Given the description of an element on the screen output the (x, y) to click on. 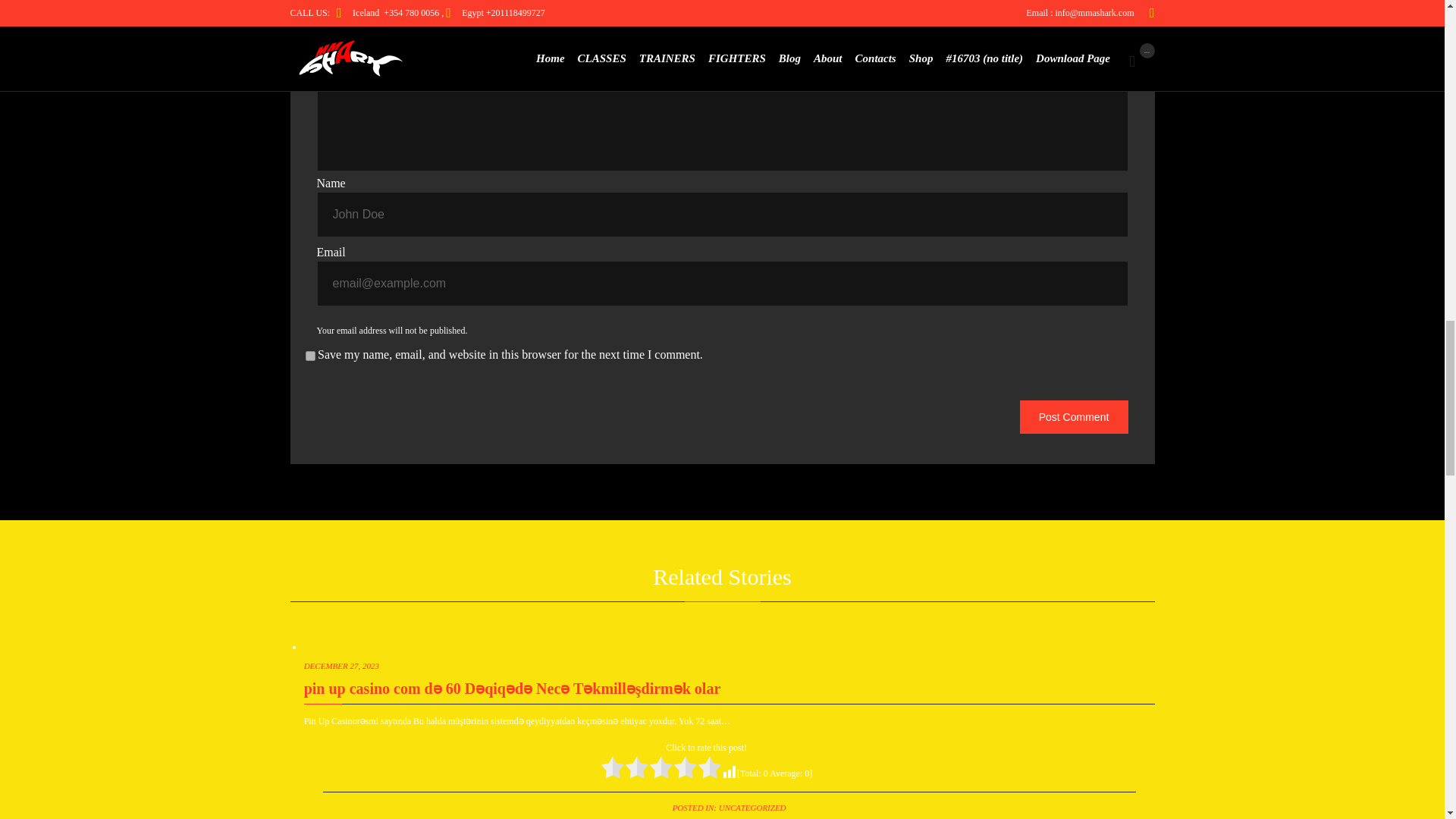
yes (309, 356)
Post Comment (1074, 417)
